Given the description of an element on the screen output the (x, y) to click on. 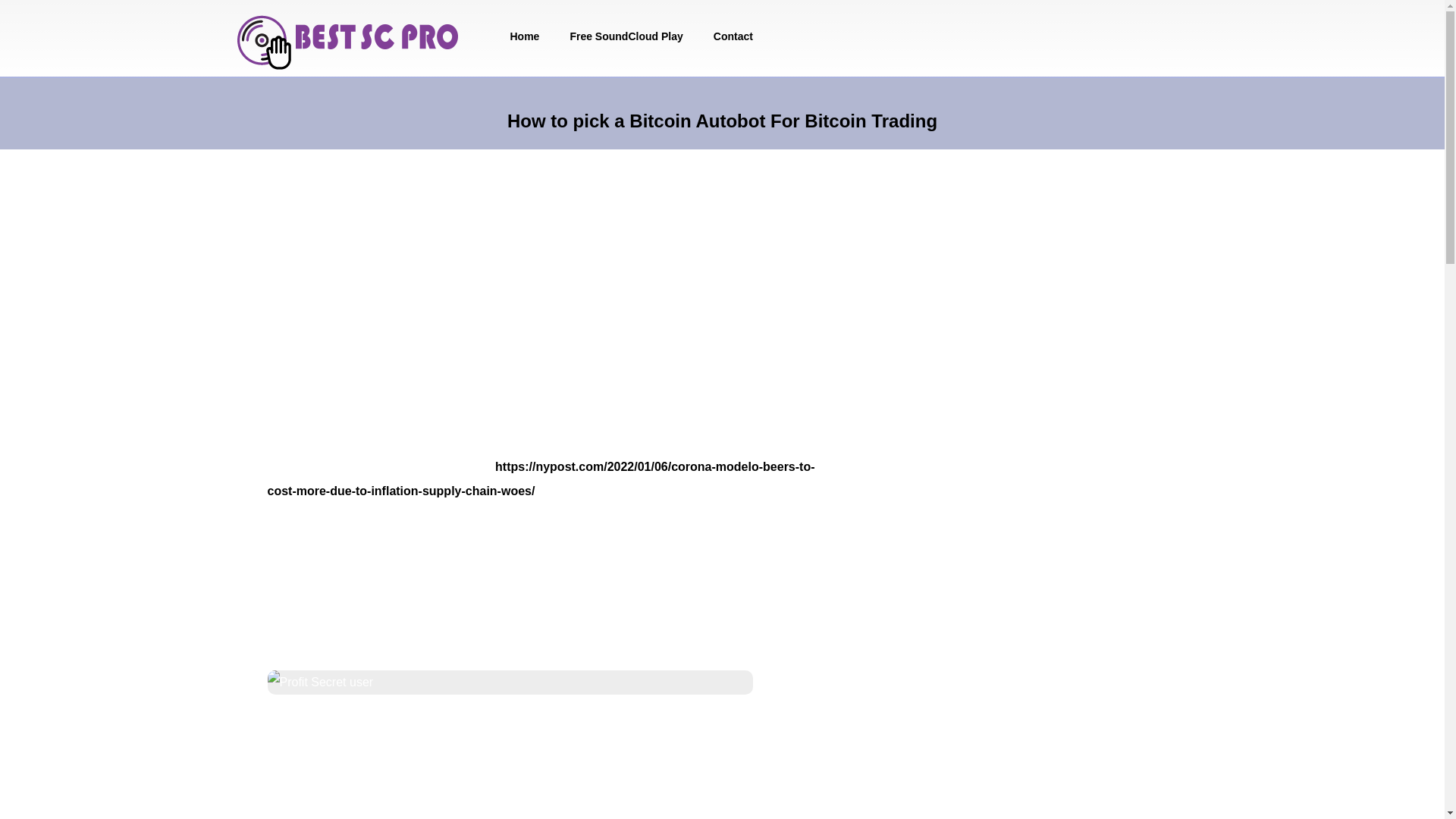
Get Promoted your music with our Plays Campaign Package (349, 45)
Home (524, 36)
Free SoundCloud Play (626, 36)
Contact (733, 36)
